Given the description of an element on the screen output the (x, y) to click on. 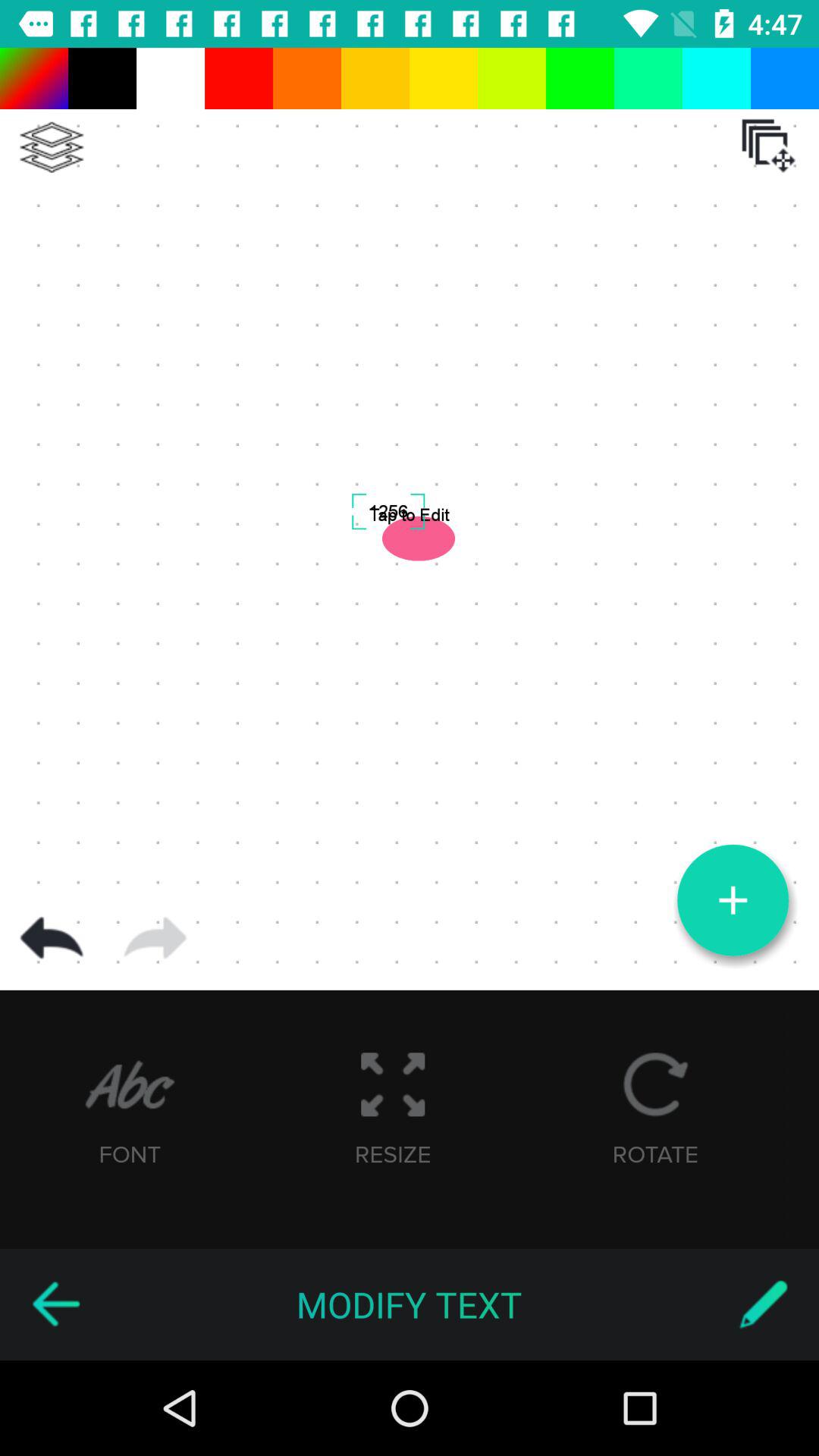
click item at the top left corner (51, 147)
